Given the description of an element on the screen output the (x, y) to click on. 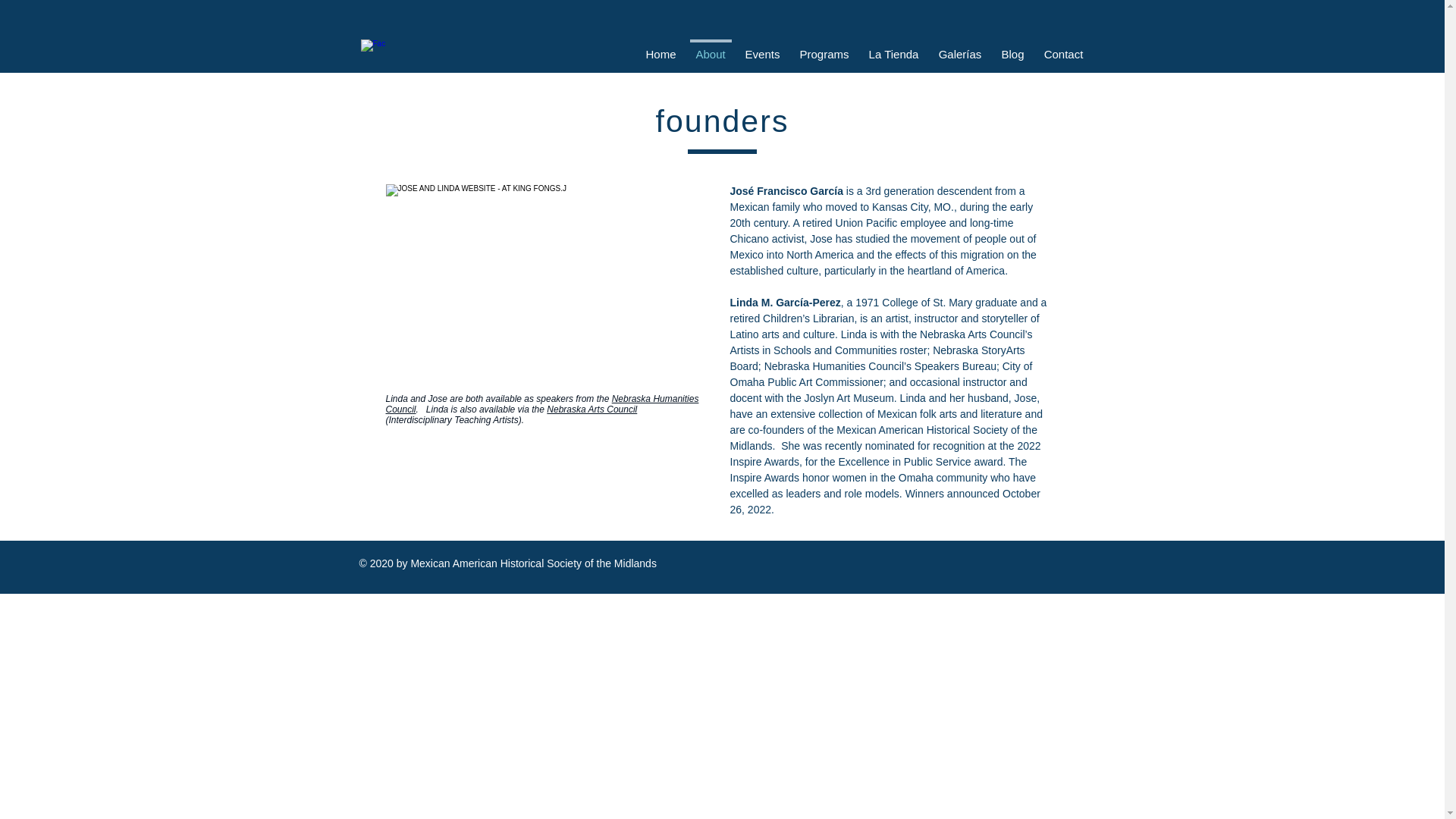
Nebraska Arts Council (592, 409)
La Tienda (893, 47)
Home (659, 47)
Contact (1063, 47)
Programs (824, 47)
Blog (1012, 47)
About (710, 47)
Events (762, 47)
Nebraska Humanities Council (541, 403)
